Given the description of an element on the screen output the (x, y) to click on. 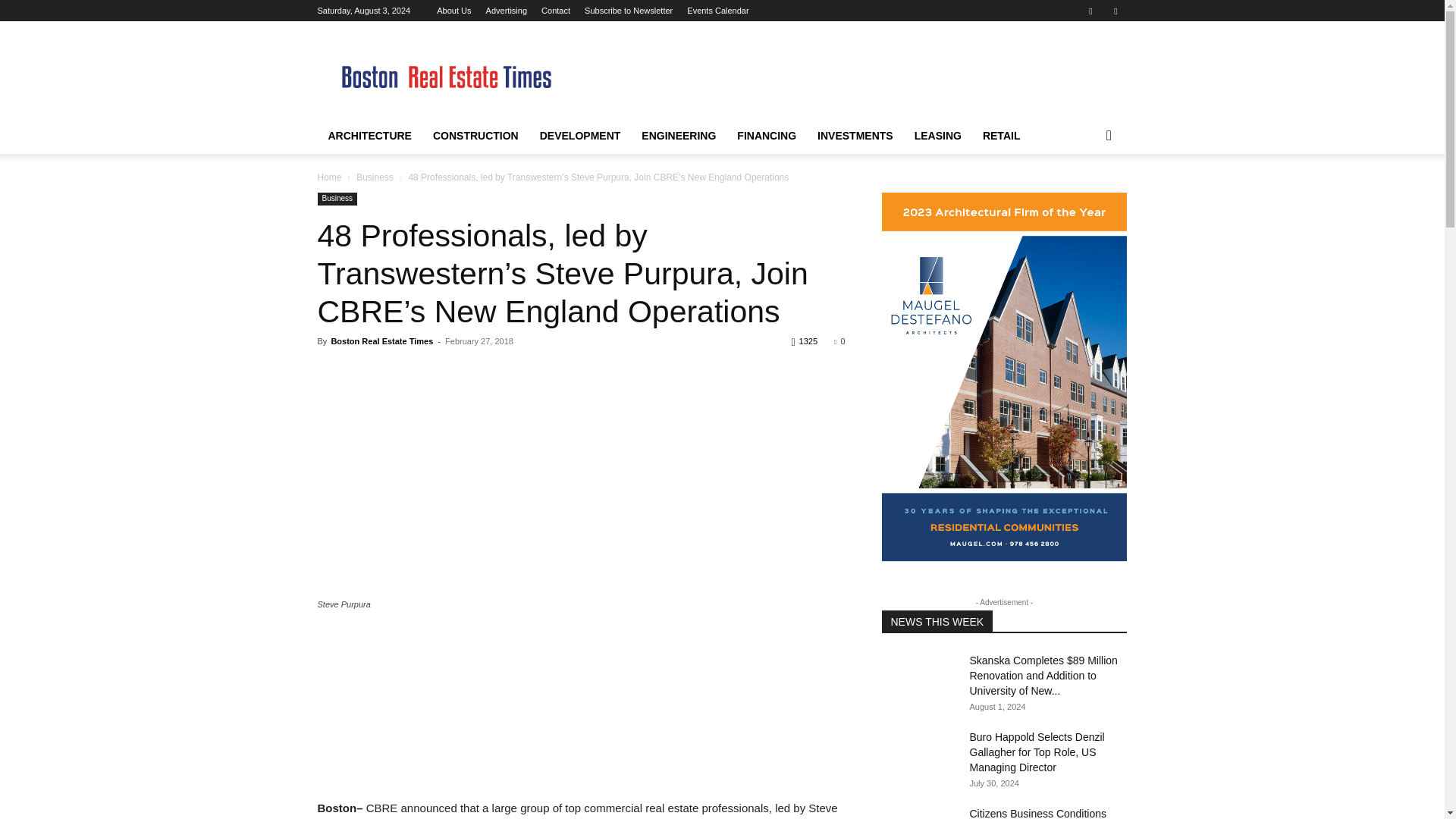
Events Calendar (717, 10)
Boston Real Estate Times (381, 340)
Search (1085, 196)
FINANCING (766, 135)
Contact (555, 10)
Subscribe to Newsletter (628, 10)
RETAIL (1001, 135)
Home (328, 176)
Twitter (1114, 10)
Facebook (1090, 10)
